Given the description of an element on the screen output the (x, y) to click on. 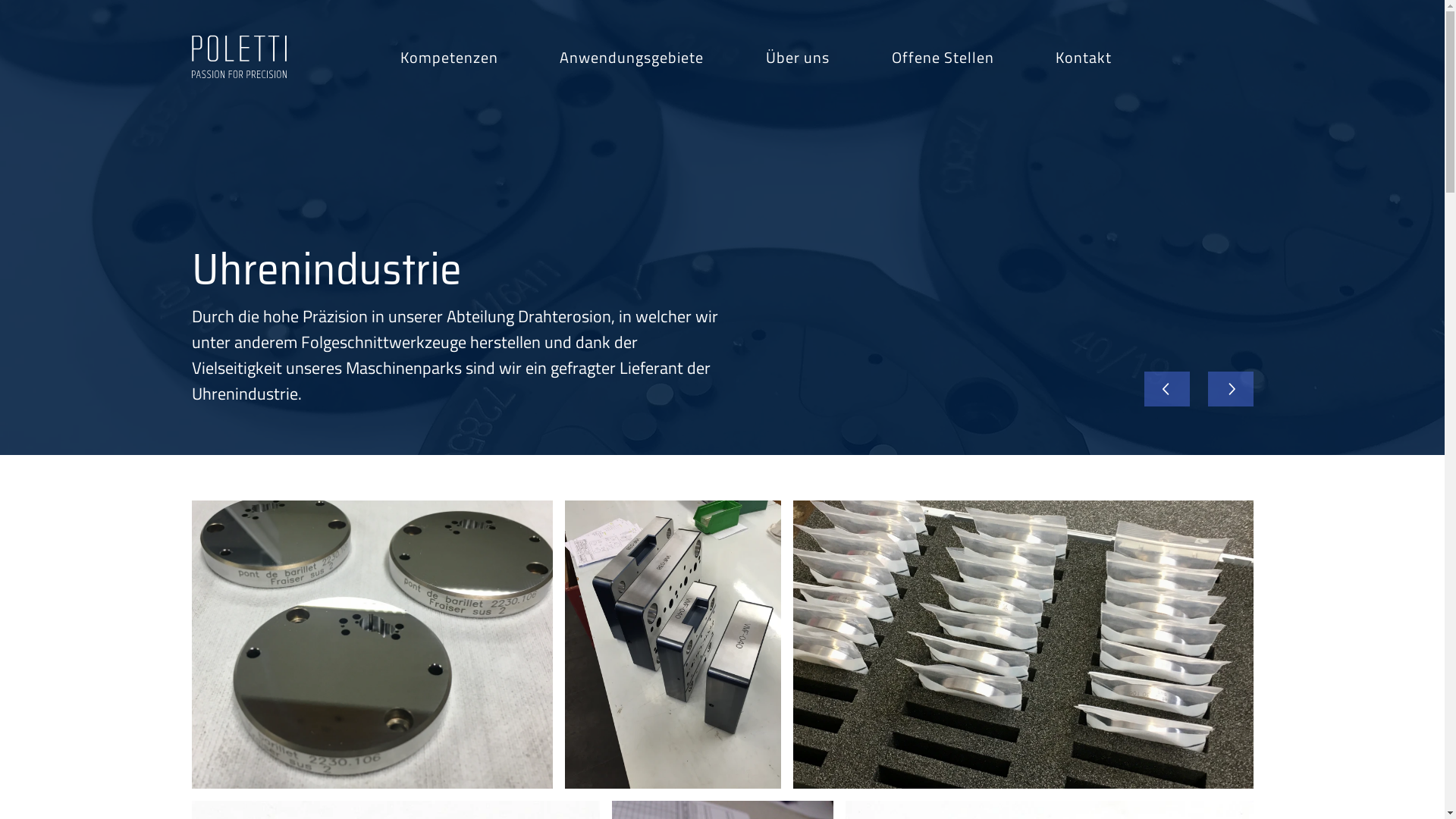
Offene Stellen Element type: text (970, 57)
Kontakt Element type: text (1111, 57)
